Given the description of an element on the screen output the (x, y) to click on. 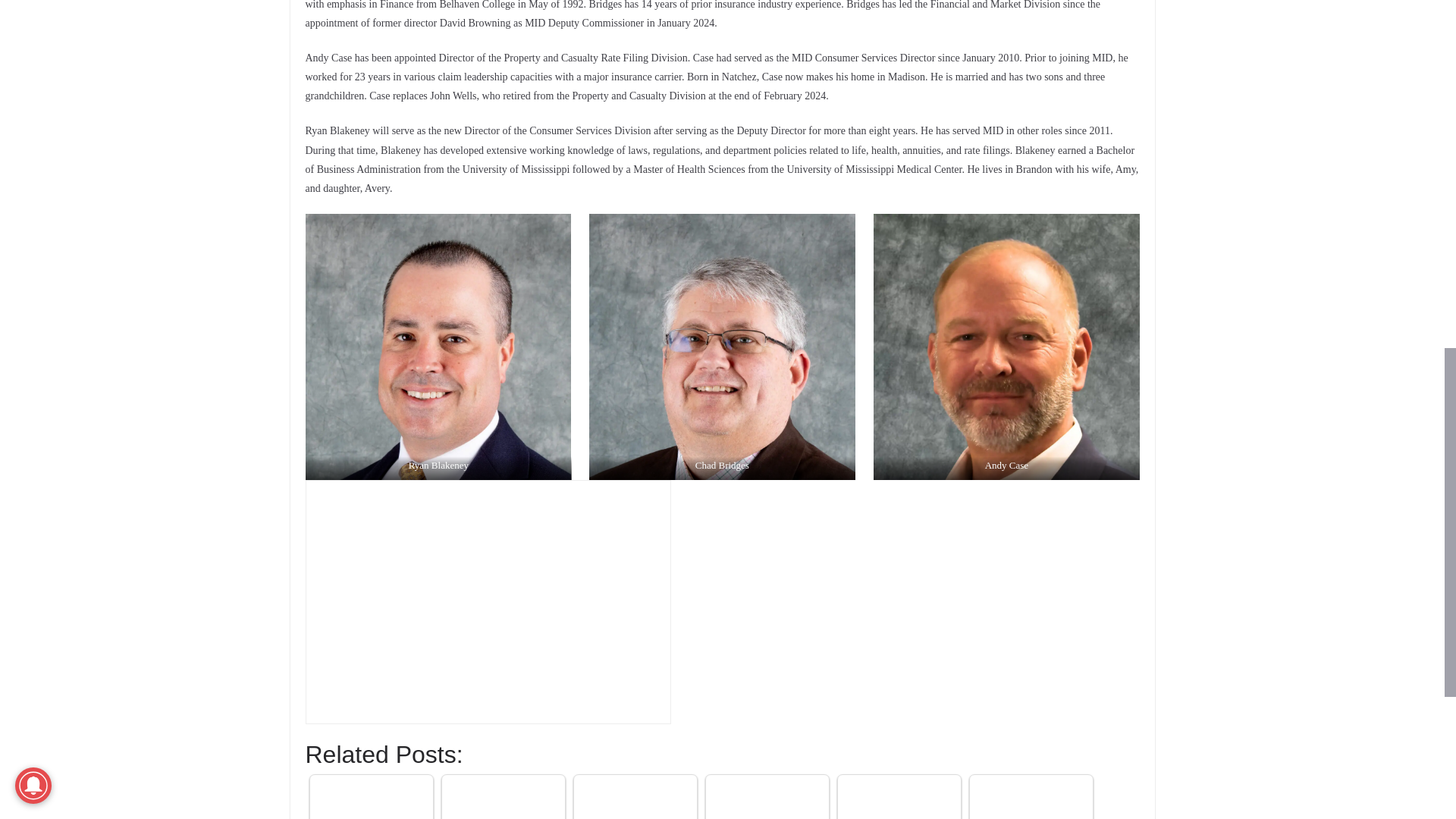
Presley campaign for governor announces staff hires (1030, 799)
Gipson Announces Staff Changes at MDAC (371, 799)
Chaney: Mississippi second to pass pet insurance law (767, 799)
Chaney: Insurance fraud affects everyone (898, 799)
